Given the description of an element on the screen output the (x, y) to click on. 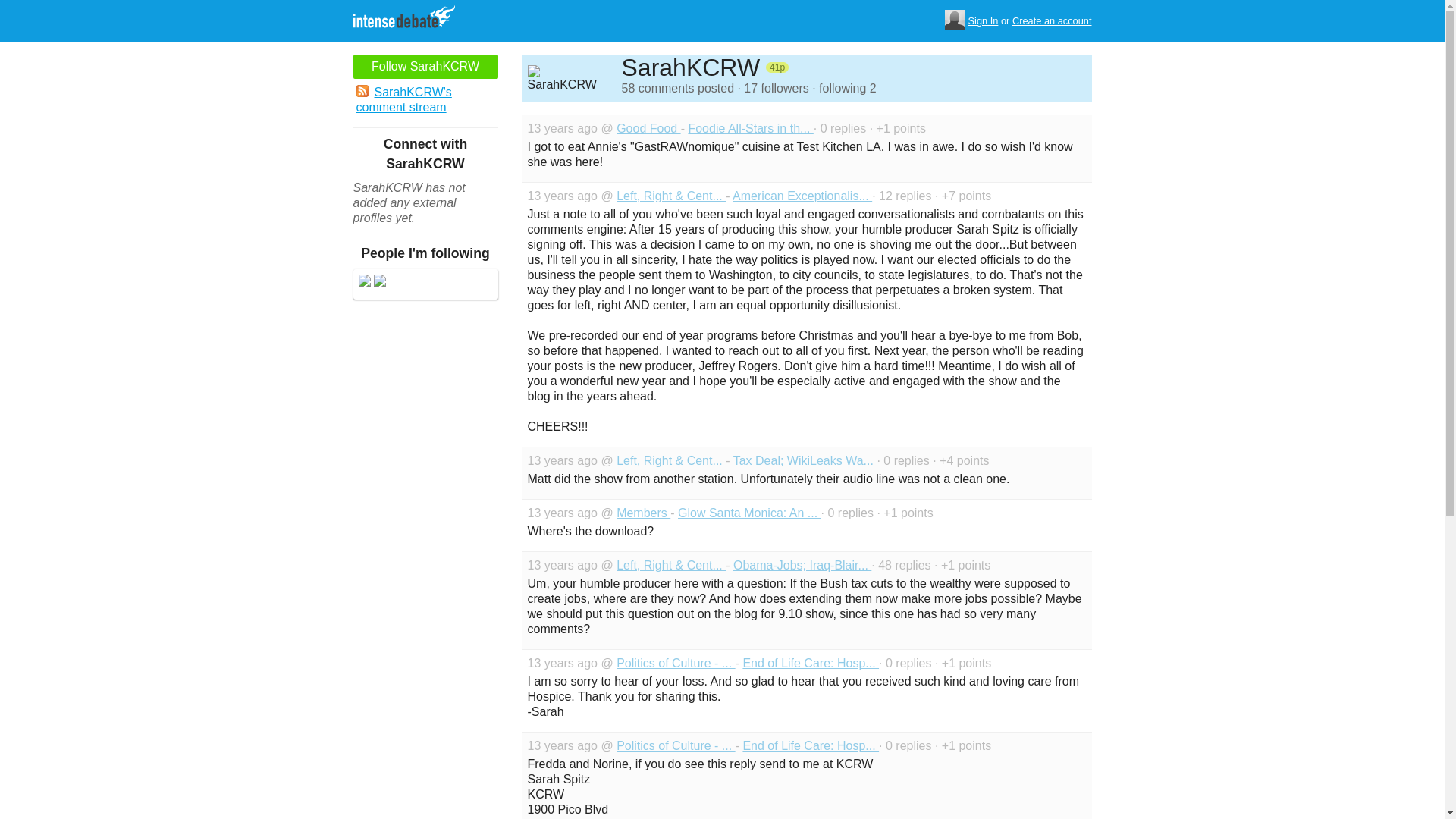
Members (642, 512)
Good Food (648, 128)
BrockD (363, 282)
Obama-Jobs; Iraq-Blair... (801, 564)
End of Life Care: Hosp... (810, 662)
Sign In (983, 21)
Politics of Culture - ... (675, 662)
deleted2135065 (378, 282)
Tax Deal; WikiLeaks Wa... (805, 460)
Foodie All-Stars in th... (749, 128)
American Exceptionalis... (802, 195)
Politics of Culture - ... (675, 745)
IntenseDebate Comment System (410, 18)
SarahKCRW's comment stream (425, 99)
